Given the description of an element on the screen output the (x, y) to click on. 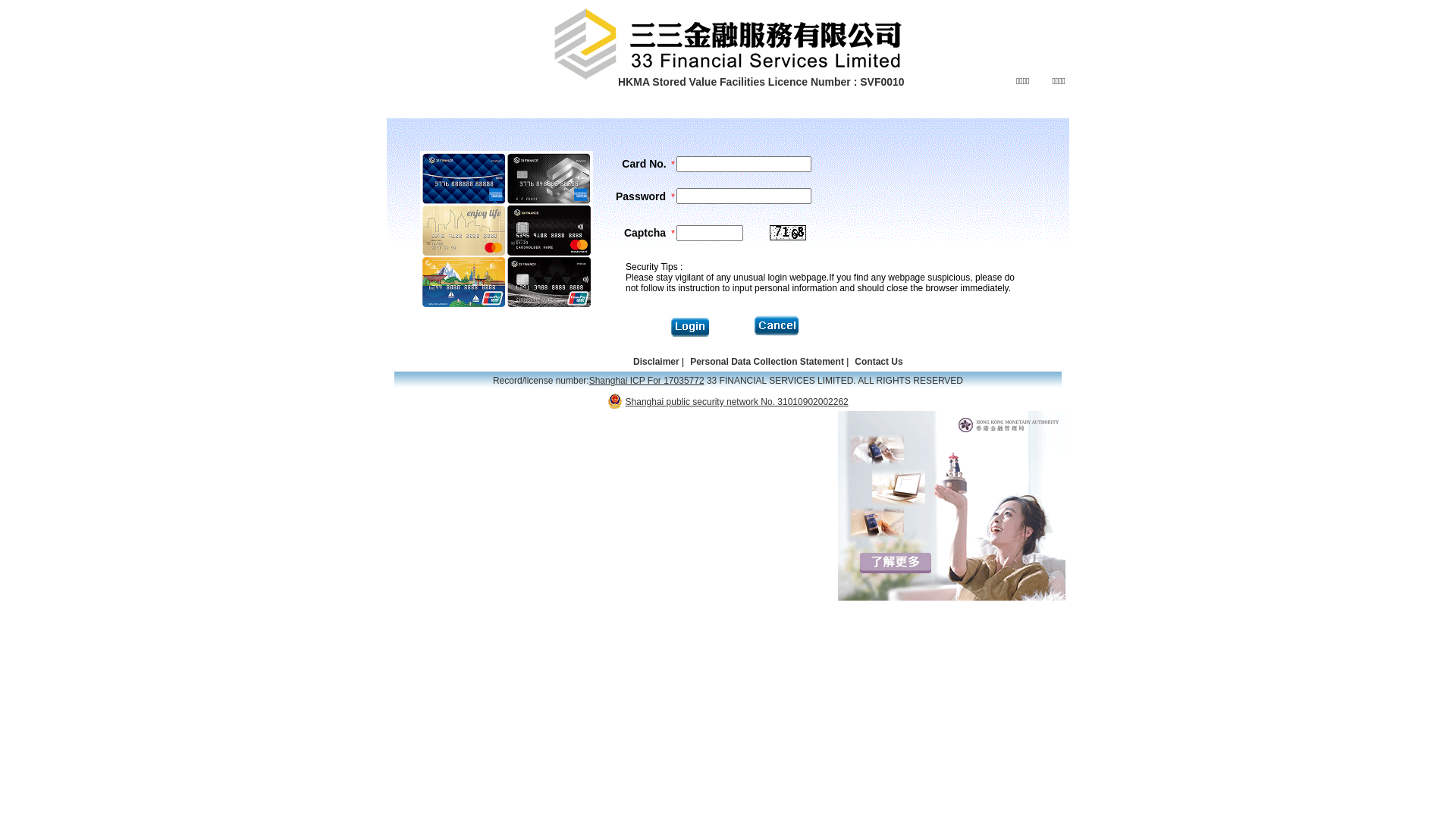
Can not see clearly? Click here.  Element type: hover (787, 232)
